Given the description of an element on the screen output the (x, y) to click on. 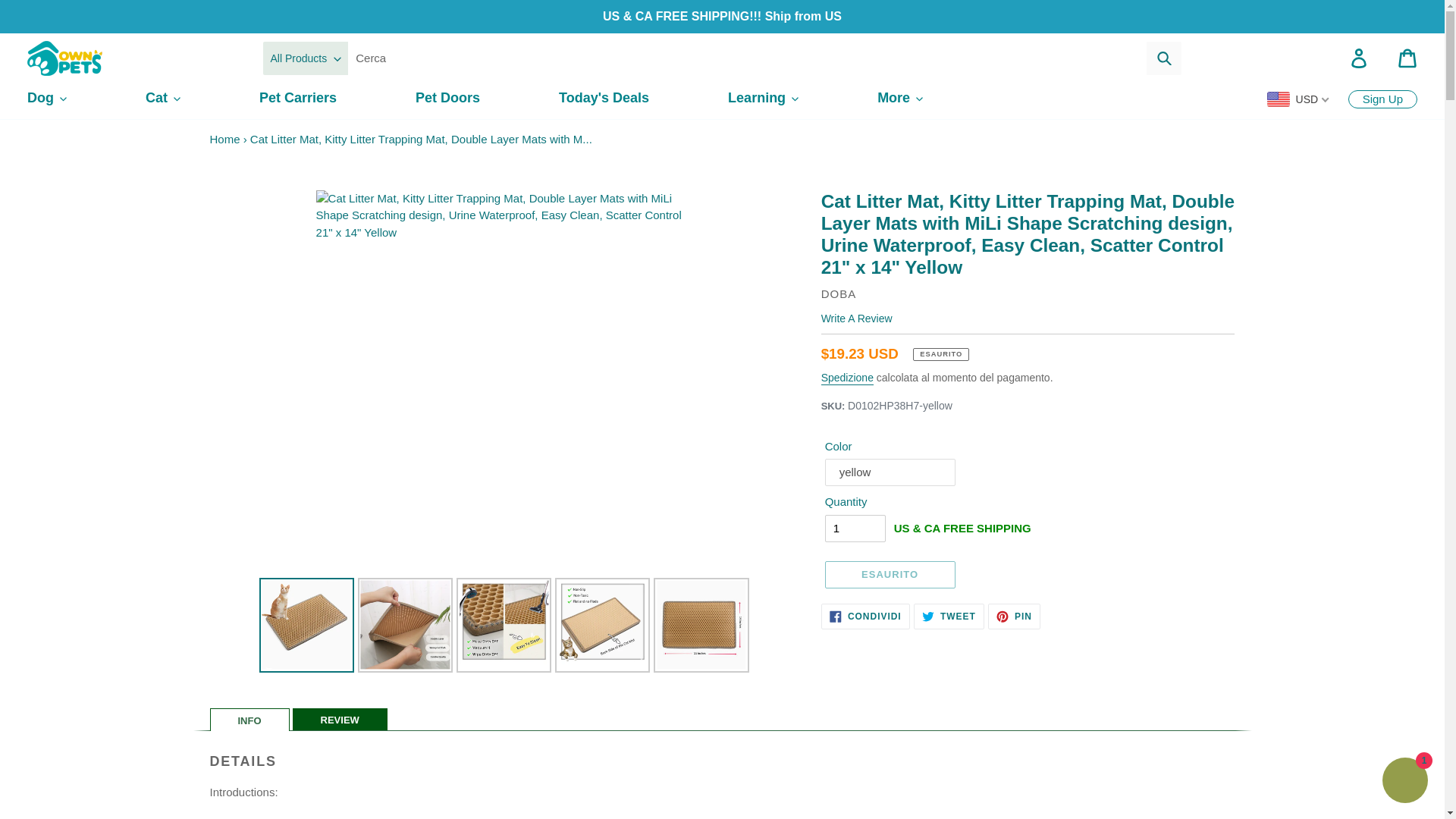
Chat negozio online di Shopify (1404, 781)
Accedi (1358, 58)
Accedi (1358, 58)
Home (224, 138)
Invia (1163, 58)
Carrello (1407, 58)
1 (855, 528)
Carrello (1407, 58)
